Given the description of an element on the screen output the (x, y) to click on. 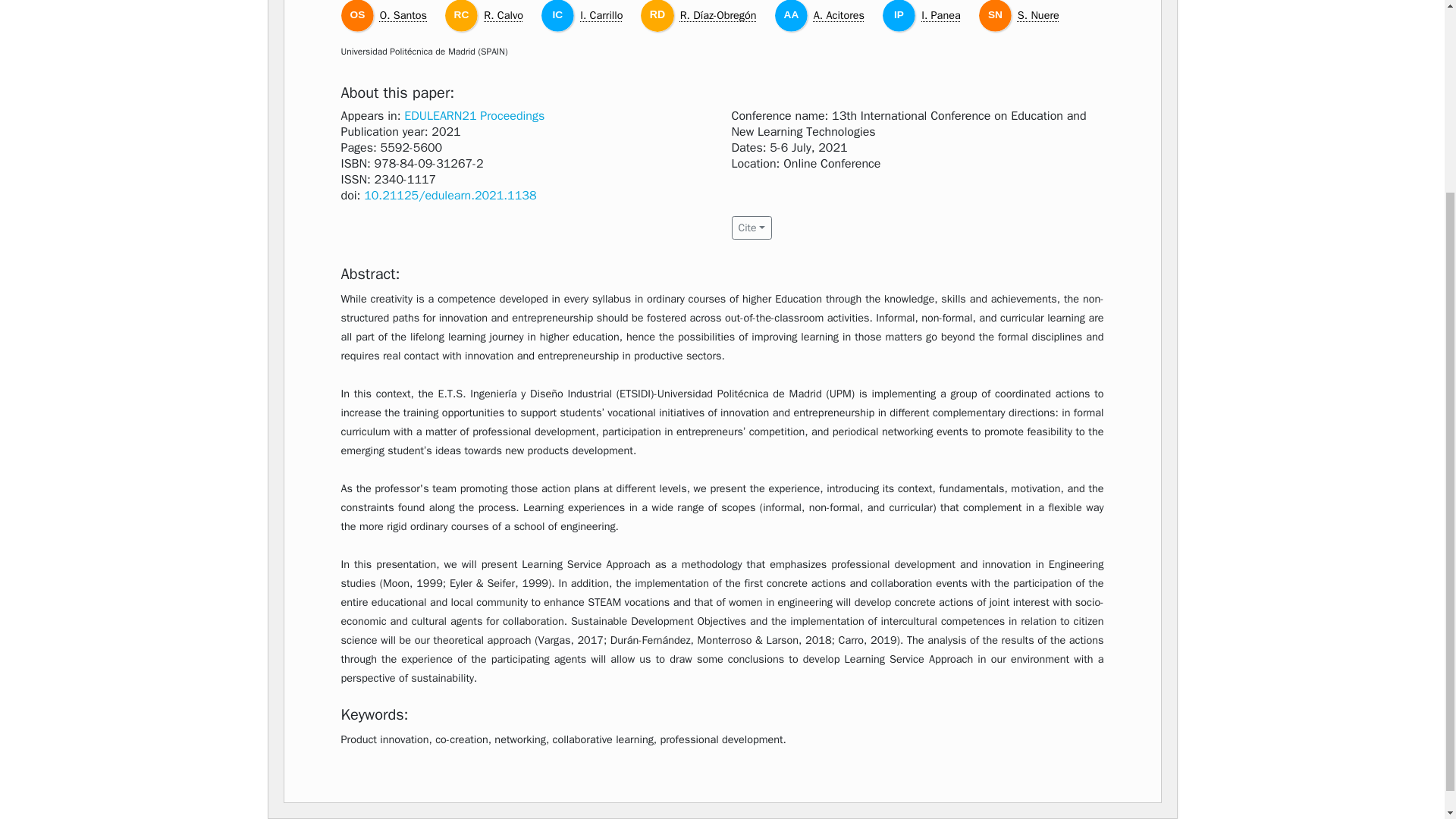
EDULEARN21 Proceedings (474, 115)
R. Calvo (502, 15)
I. Panea (940, 15)
doi (449, 195)
O. Santos (403, 15)
Cite (750, 227)
S. Nuere (1038, 15)
I. Carrillo (601, 15)
A. Acitores (838, 15)
